Given the description of an element on the screen output the (x, y) to click on. 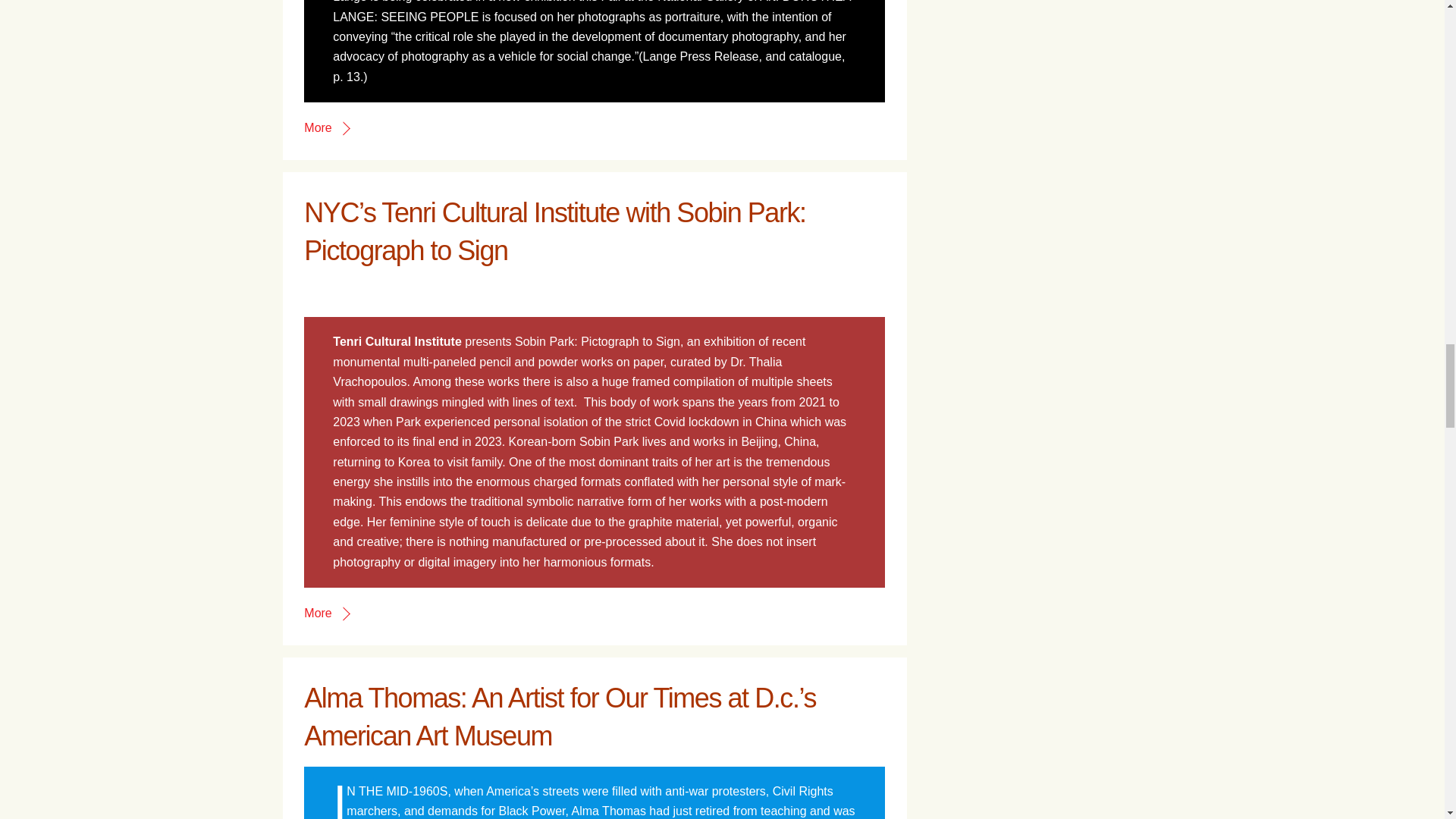
More (325, 612)
More (325, 127)
